Given the description of an element on the screen output the (x, y) to click on. 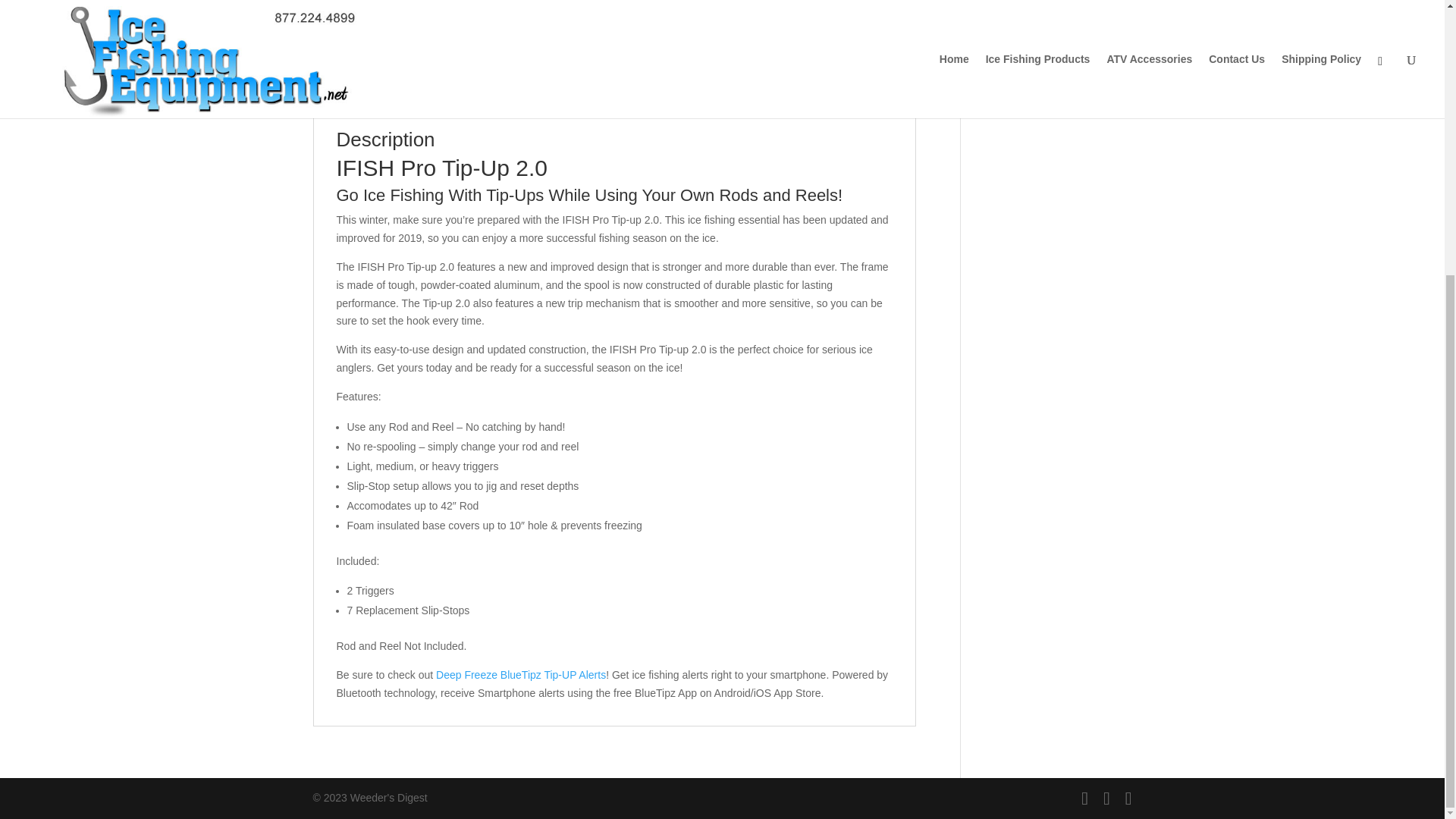
Description (358, 94)
04023228040 (457, 8)
Additional information (474, 94)
Deep Freeze BlueTipz Tip-UP Alerts (520, 674)
